Given the description of an element on the screen output the (x, y) to click on. 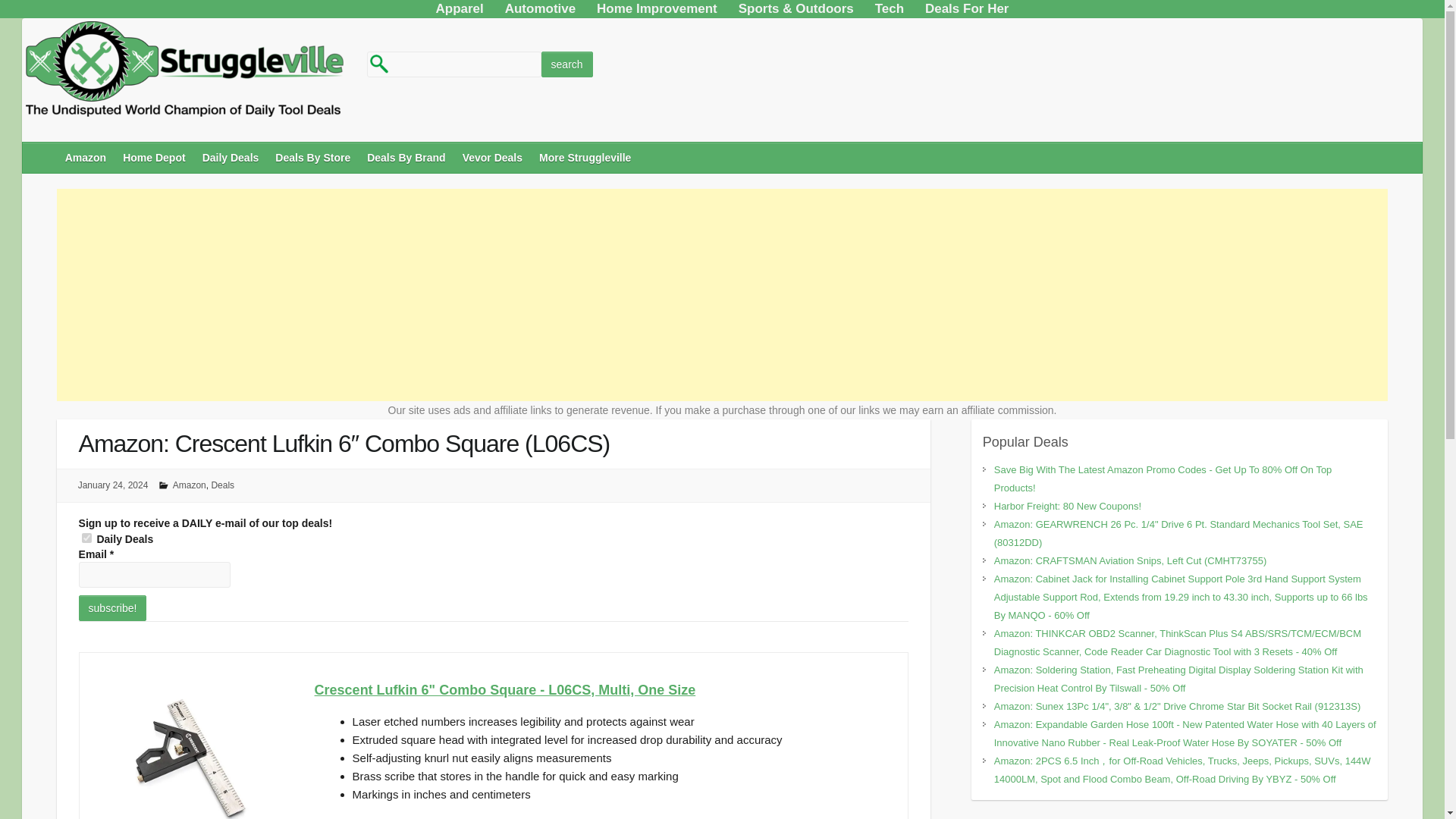
Crescent Lufkin 6' Combo Square - L06CS, Multi, One Size (603, 690)
Search (566, 63)
Email (154, 574)
Apparel (459, 13)
Subscribe! (112, 607)
13 (86, 537)
Tech (889, 13)
Deals By Store (313, 157)
Search (566, 63)
Deals For Her (966, 13)
